Given the description of an element on the screen output the (x, y) to click on. 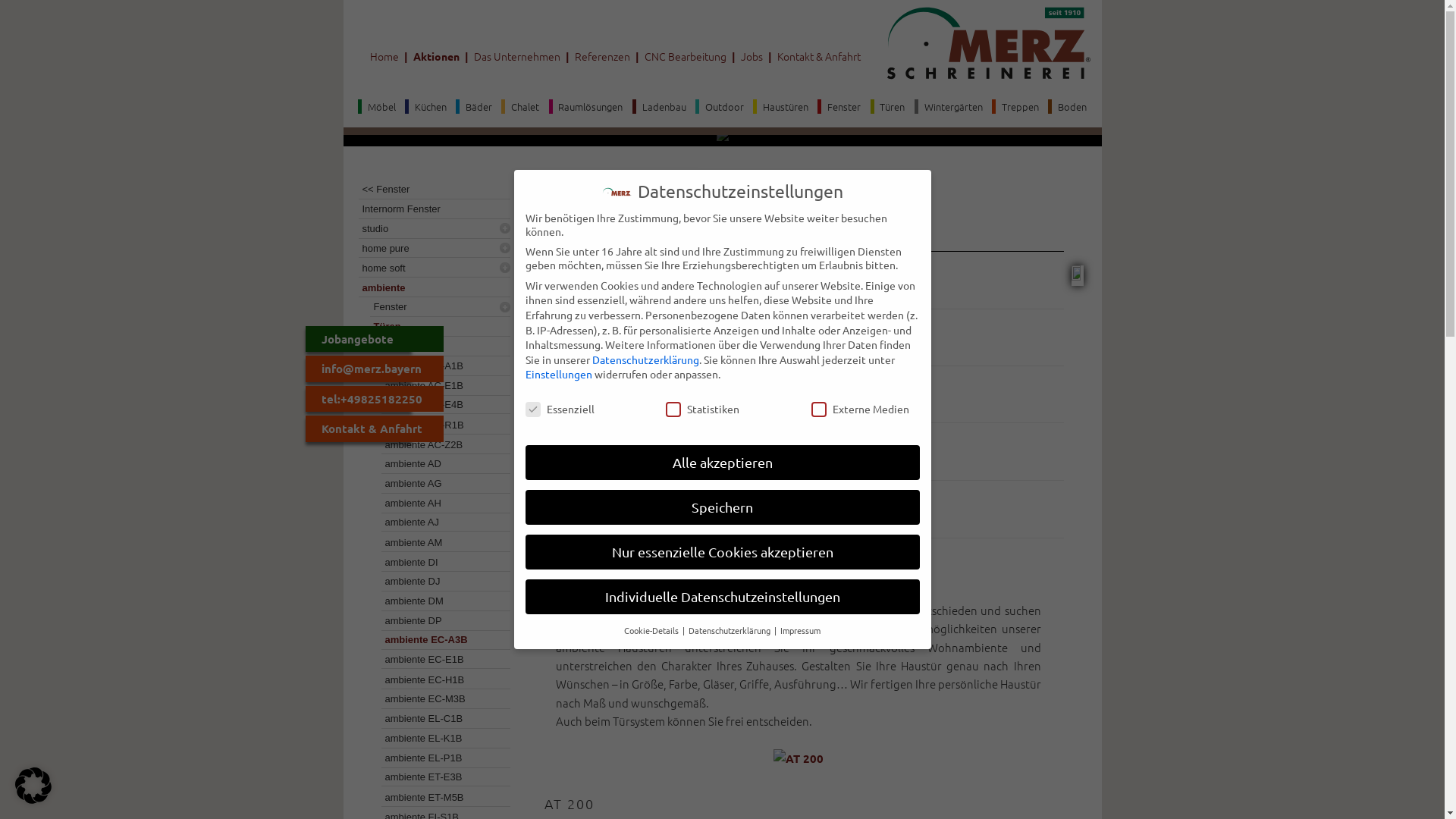
ambiente AC-E1B Element type: text (439, 385)
ambiente AC-E4B Element type: text (439, 405)
ambiente AC-Z2B Element type: text (439, 443)
ambiente EC-H1B Element type: text (439, 679)
home soft Element type: text (427, 268)
Einstellungen Element type: text (557, 373)
tel:+49825182250 Element type: text (373, 398)
ambiente DJ Element type: text (439, 581)
Boden Element type: text (1067, 106)
ambiente Element type: text (427, 287)
studio Element type: text (427, 228)
CNC Bearbeitung Element type: text (685, 55)
ambiente EC-M3B Element type: text (439, 698)
Jobs Element type: text (751, 55)
ambiente EL-P1B Element type: text (439, 757)
Jobangebote Element type: text (373, 338)
Aktionen Element type: text (435, 55)
Referenzen Element type: text (602, 55)
Kontakt & Anfahrt Element type: text (373, 428)
ambiente ET-E3B Element type: text (439, 777)
ambiente AA Element type: text (439, 346)
Kontakt & Anfahrt Element type: text (817, 55)
Fenster Element type: text (432, 306)
ambiente AC-R1B Element type: text (439, 424)
ambiente EC-A3B Element type: text (439, 640)
Individuelle Datenschutzeinstellungen Element type: text (721, 596)
Outdoor Element type: text (719, 106)
<< Fenster Element type: text (427, 189)
ambiente AH Element type: text (439, 503)
info@merz.bayern Element type: text (373, 368)
ambiente EL-K1B Element type: text (439, 738)
Impressum Element type: text (800, 630)
Das Unternehmen Element type: text (516, 55)
ambiente DM Element type: text (439, 600)
ambiente AJ Element type: text (439, 522)
Cookie-Details Element type: text (652, 630)
ambiente AG Element type: text (439, 483)
Treppen Element type: text (1014, 106)
Suchen Element type: text (21, 10)
Alle akzeptieren Element type: text (721, 462)
ambiente DP Element type: text (439, 620)
Home Element type: text (384, 55)
ambiente ET-M5B Element type: text (439, 797)
ambiente AM Element type: text (439, 542)
ambiente EC-E1B Element type: text (439, 660)
Speichern Element type: text (721, 506)
ambiente AD Element type: text (439, 463)
Ladenbau Element type: text (659, 106)
Nur essenzielle Cookies akzeptieren Element type: text (721, 551)
ambiente EL-C1B Element type: text (439, 718)
ambiente DI Element type: text (439, 561)
ambiente AC-A1B Element type: text (439, 365)
Fenster Element type: text (838, 106)
Internorm Fenster Element type: text (427, 208)
Chalet Element type: text (520, 106)
home pure Element type: text (427, 248)
Zum Inhalt wechseln Element type: text (342, 90)
